Given the description of an element on the screen output the (x, y) to click on. 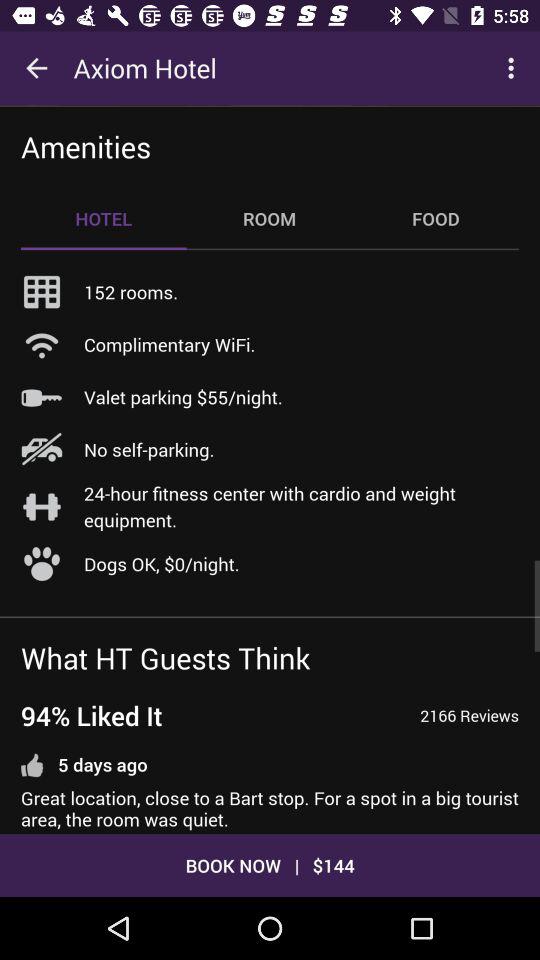
open the item next to the axiom hotel item (36, 68)
